Given the description of an element on the screen output the (x, y) to click on. 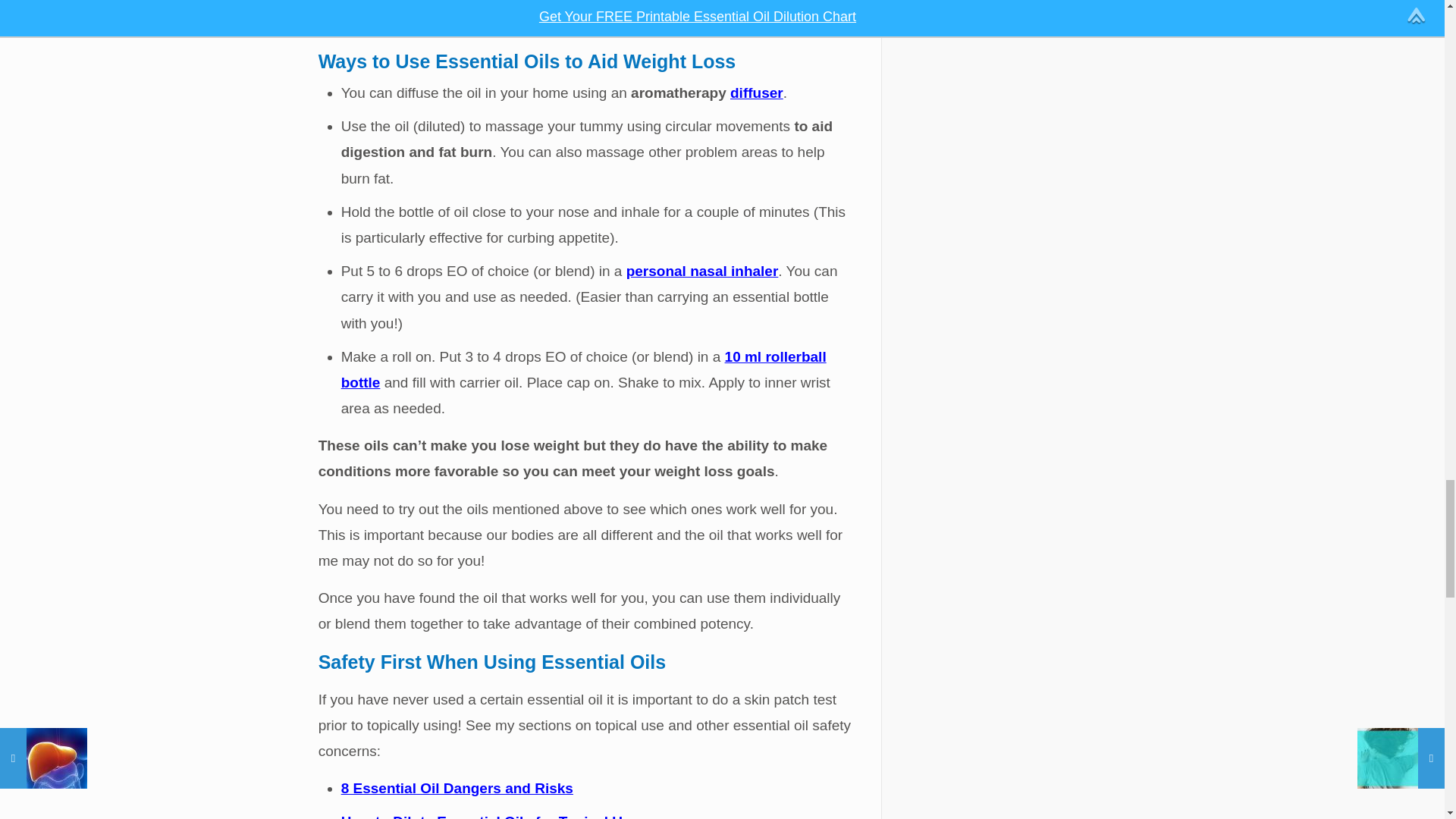
How to Dilute Essential Oils for Topical Use (489, 816)
8 Essential Oil Dangers and Risks (456, 788)
diffuser (756, 92)
personal nasal inhaler (702, 270)
here (575, 2)
10 ml rollerball bottle (583, 369)
